Given the description of an element on the screen output the (x, y) to click on. 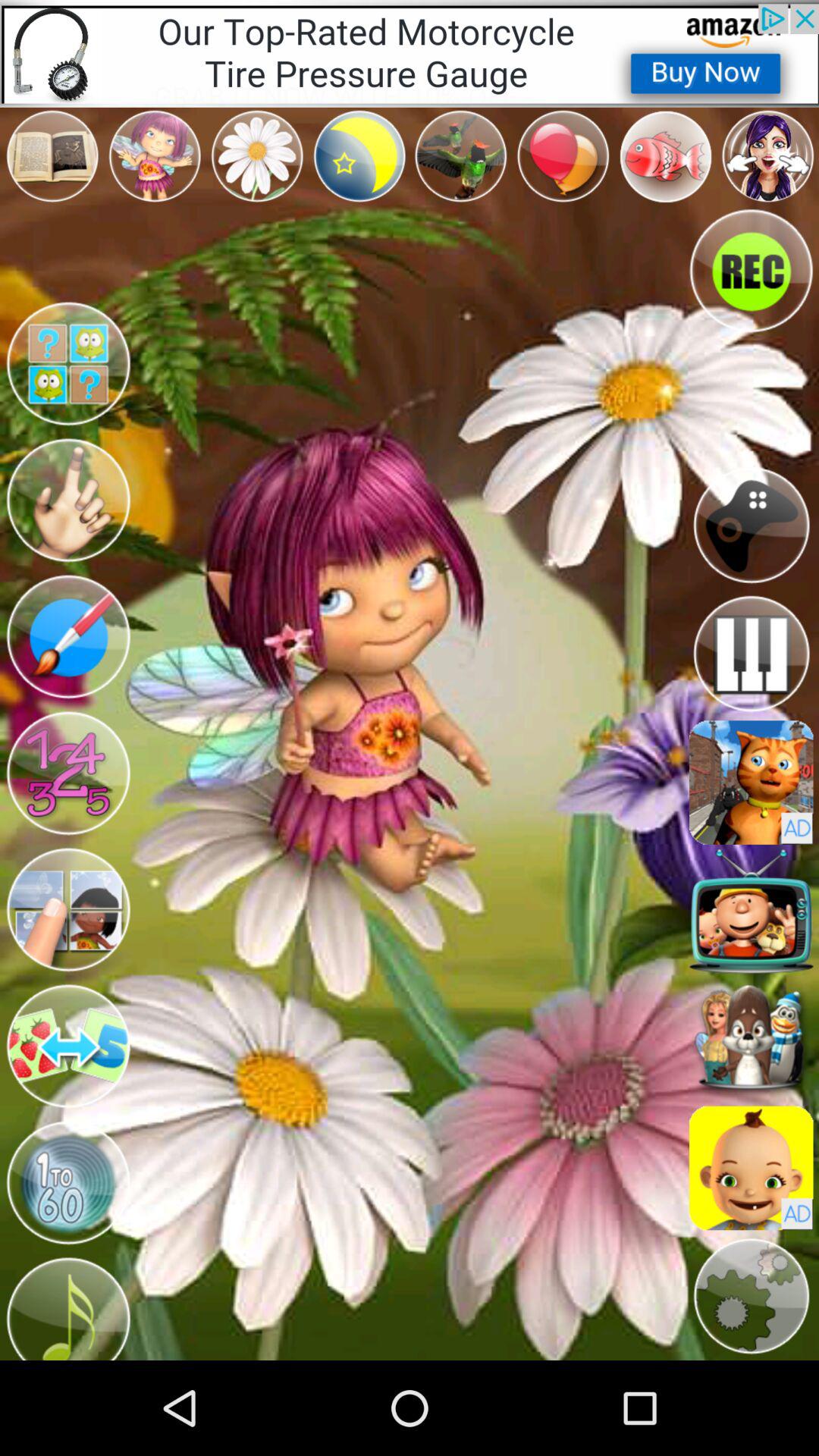
toy page (751, 782)
